Given the description of an element on the screen output the (x, y) to click on. 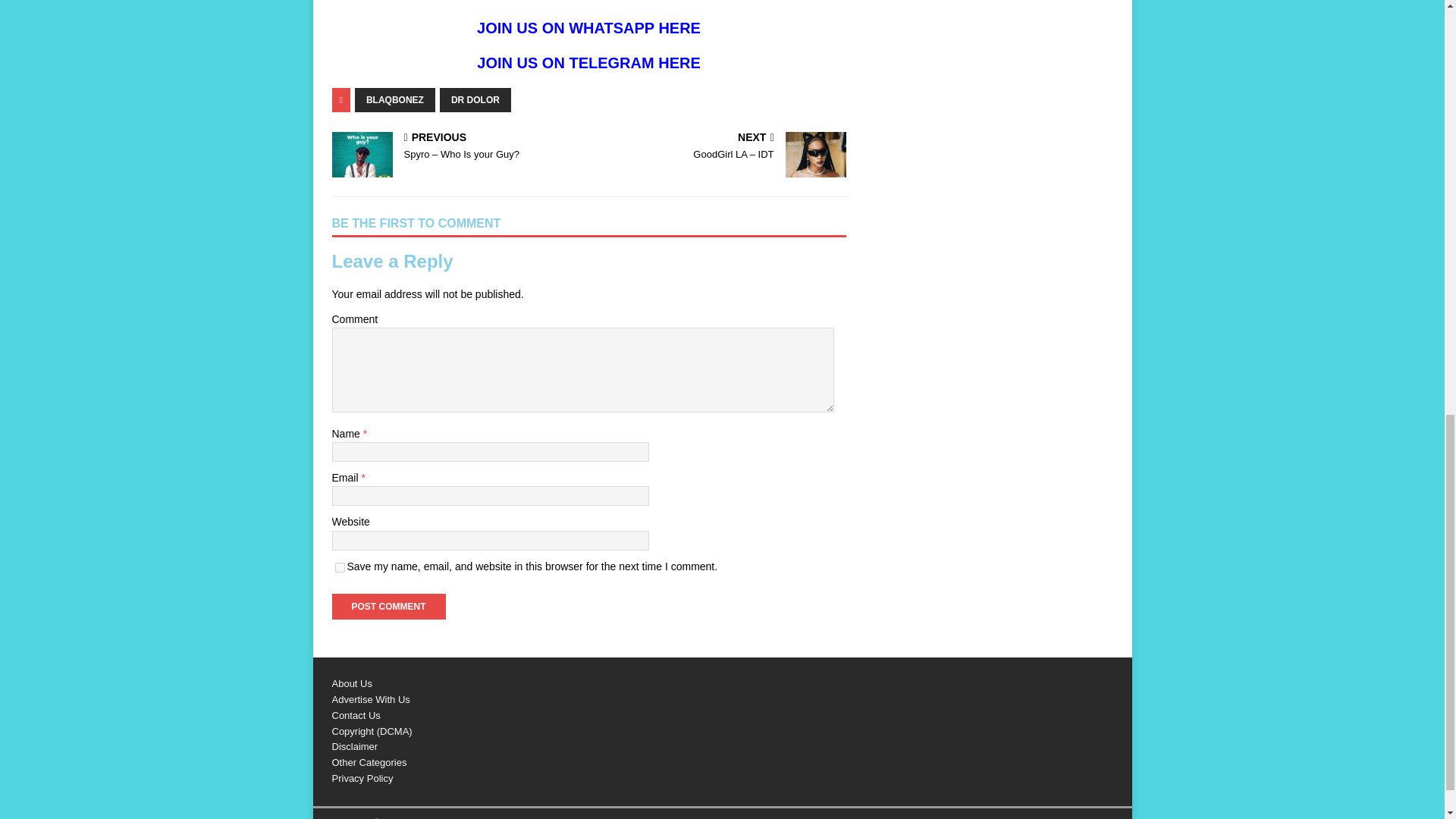
JOIN US ON WHATSAPP HERE (588, 27)
Post Comment (388, 606)
yes (339, 567)
JOIN US ON TELEGRAM HERE (588, 62)
